Given the description of an element on the screen output the (x, y) to click on. 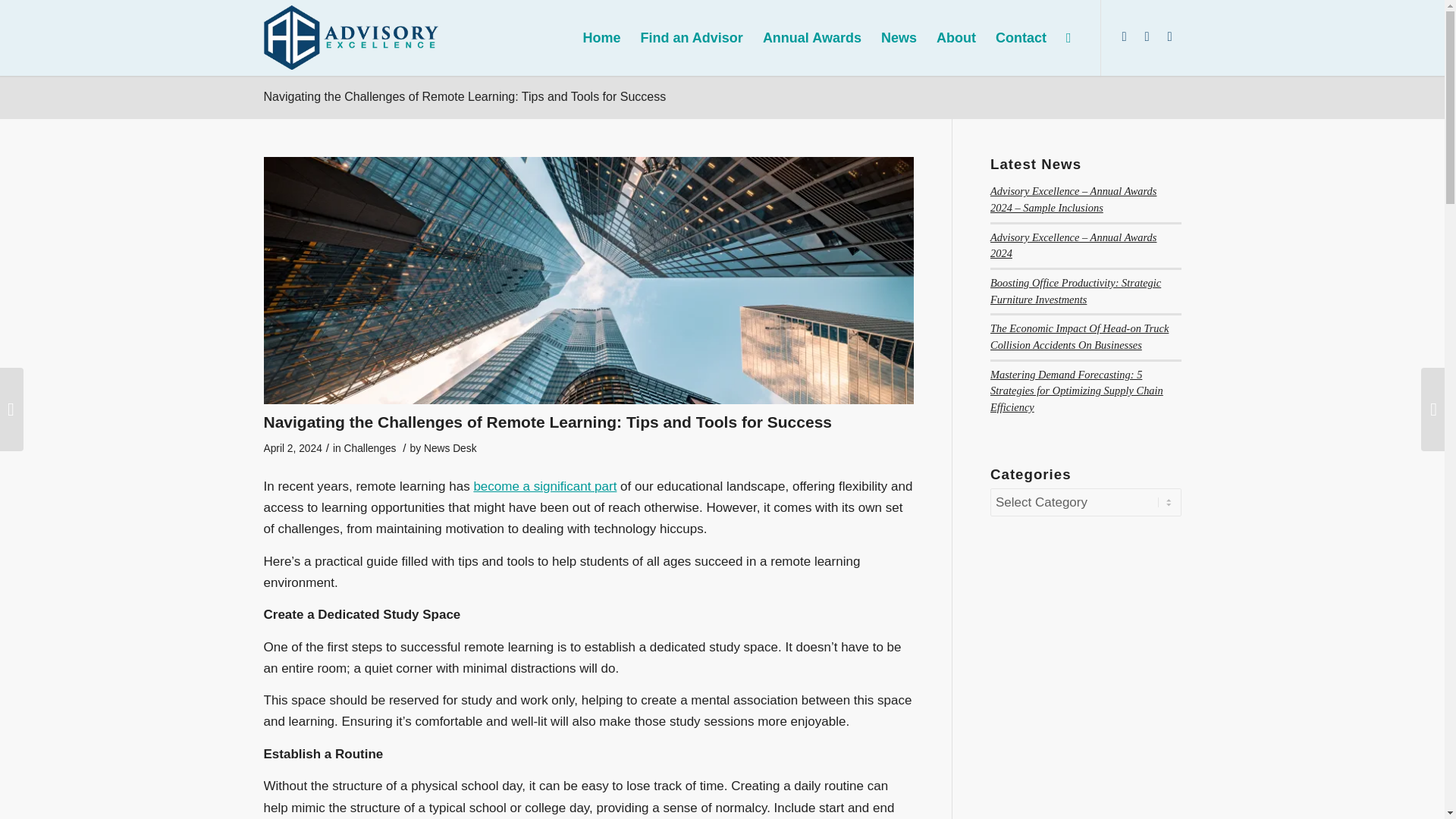
Contact (1021, 38)
Twitter (1146, 36)
become a significant part (544, 486)
Challenges (369, 448)
Annual Awards (811, 38)
News Desk (450, 448)
Find an Advisor (691, 38)
Facebook (1169, 36)
Advisory-Excellence-logo (351, 36)
LinkedIn (1124, 36)
